Given the description of an element on the screen output the (x, y) to click on. 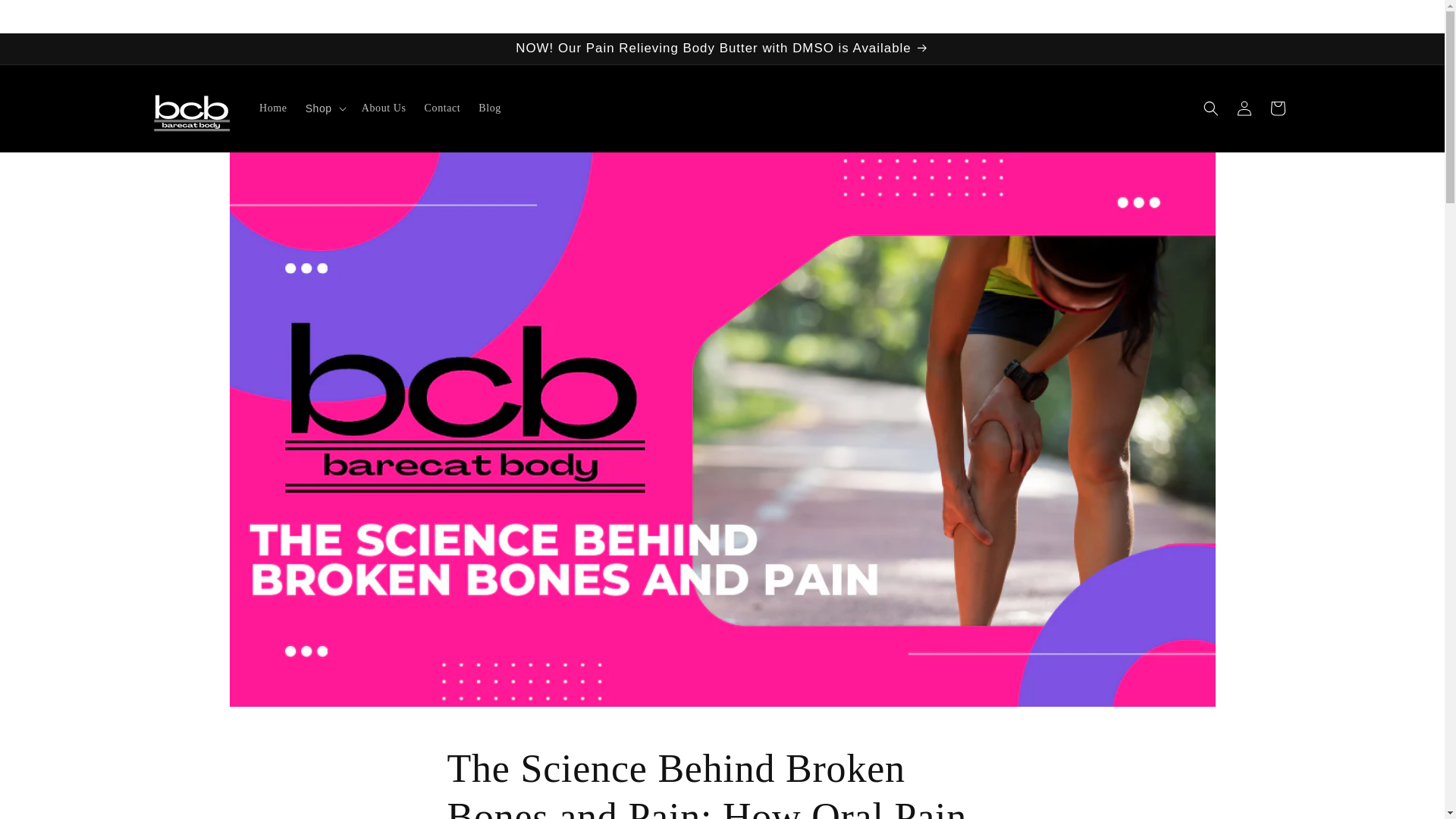
Home (273, 108)
Ir directamente al contenido (45, 17)
Contact (442, 108)
Blog (489, 108)
NOW! Our Pain Relieving Body Butter with DMSO is Available (721, 48)
About Us (383, 108)
